Given the description of an element on the screen output the (x, y) to click on. 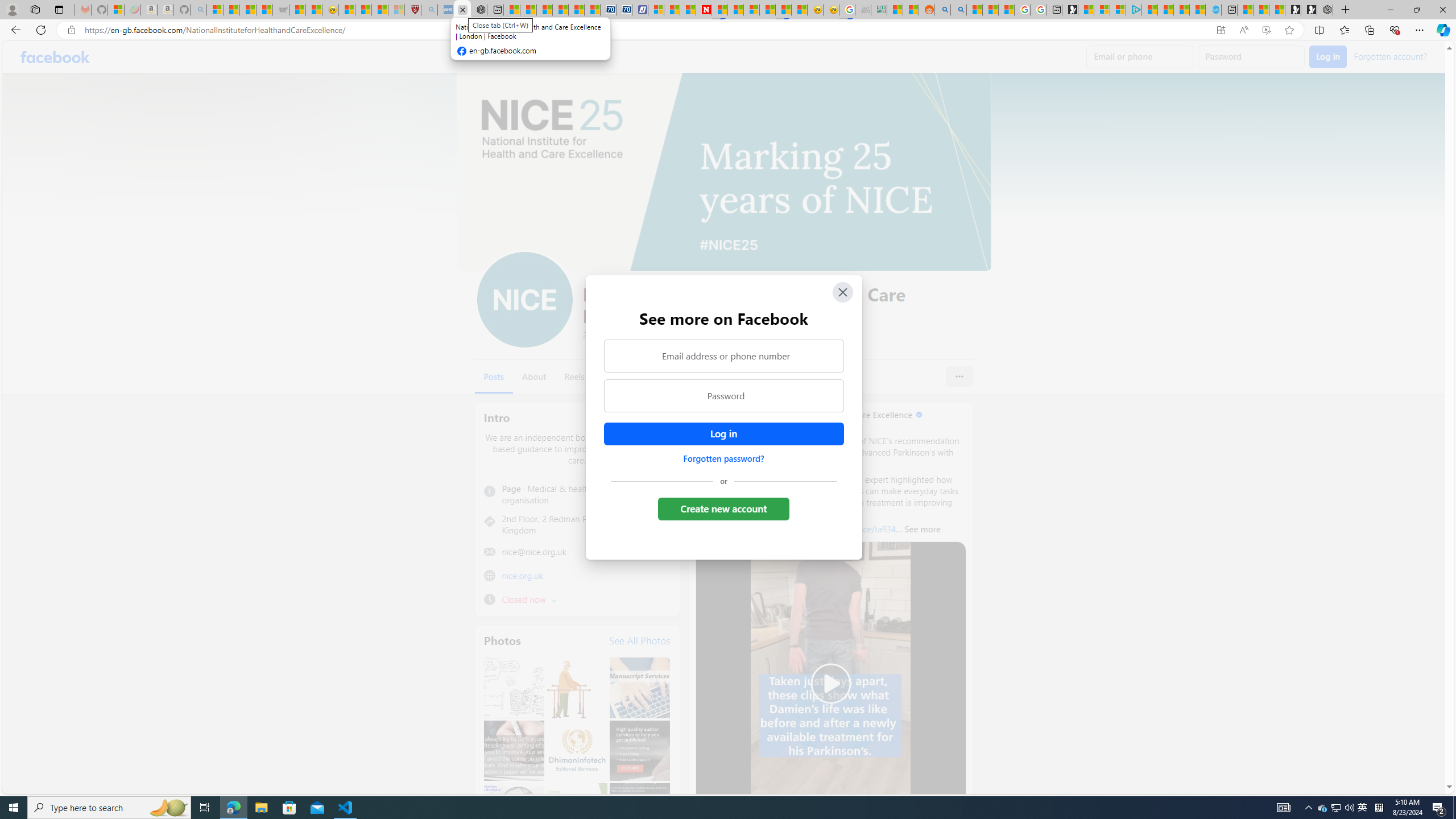
Utah sues federal government - Search (958, 9)
Forgotten account? (1390, 55)
Email address or phone number (723, 355)
Robert H. Shmerling, MD - Harvard Health (413, 9)
